Given the description of an element on the screen output the (x, y) to click on. 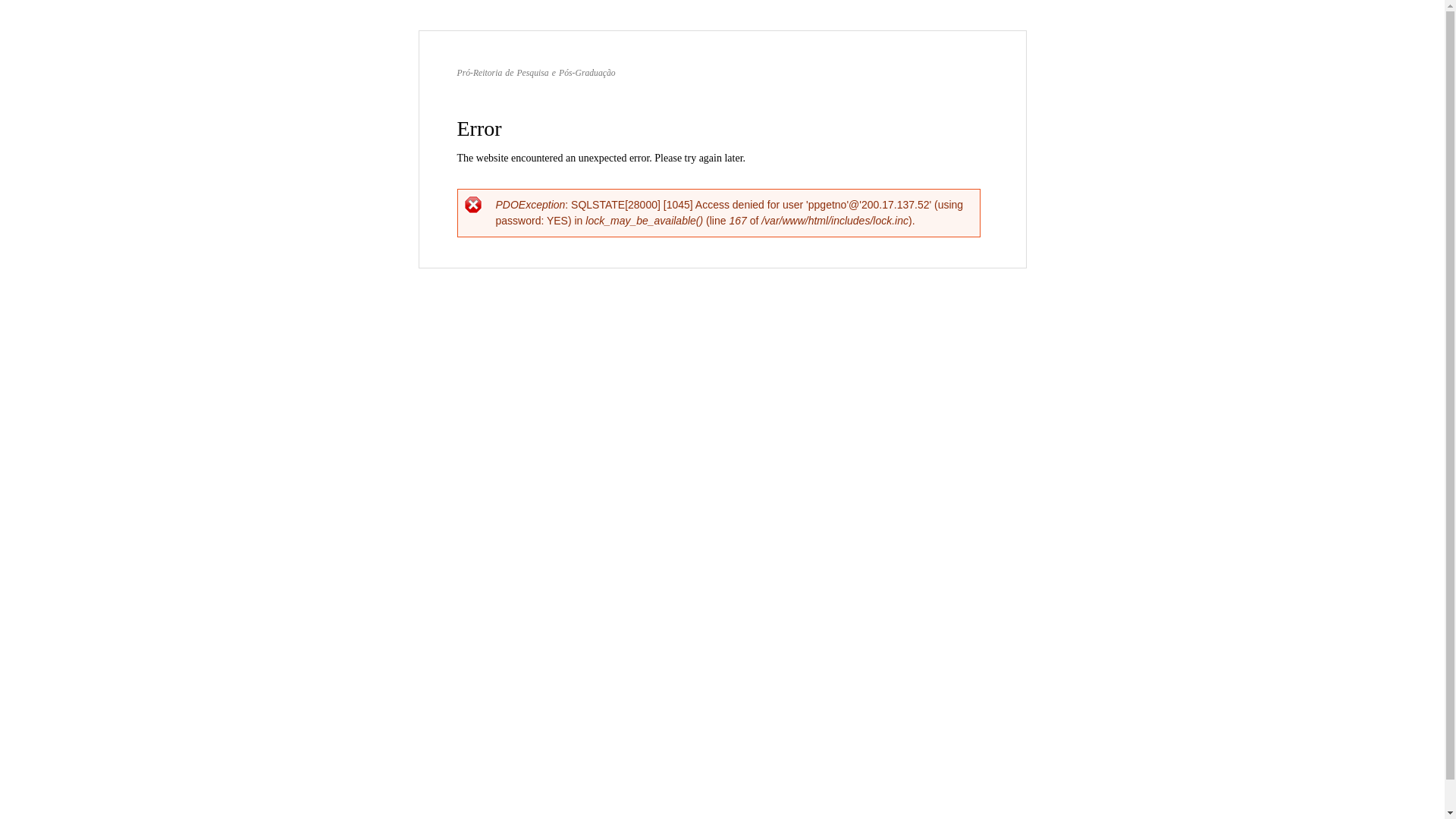
Skip to main content Element type: text (690, 31)
